Given the description of an element on the screen output the (x, y) to click on. 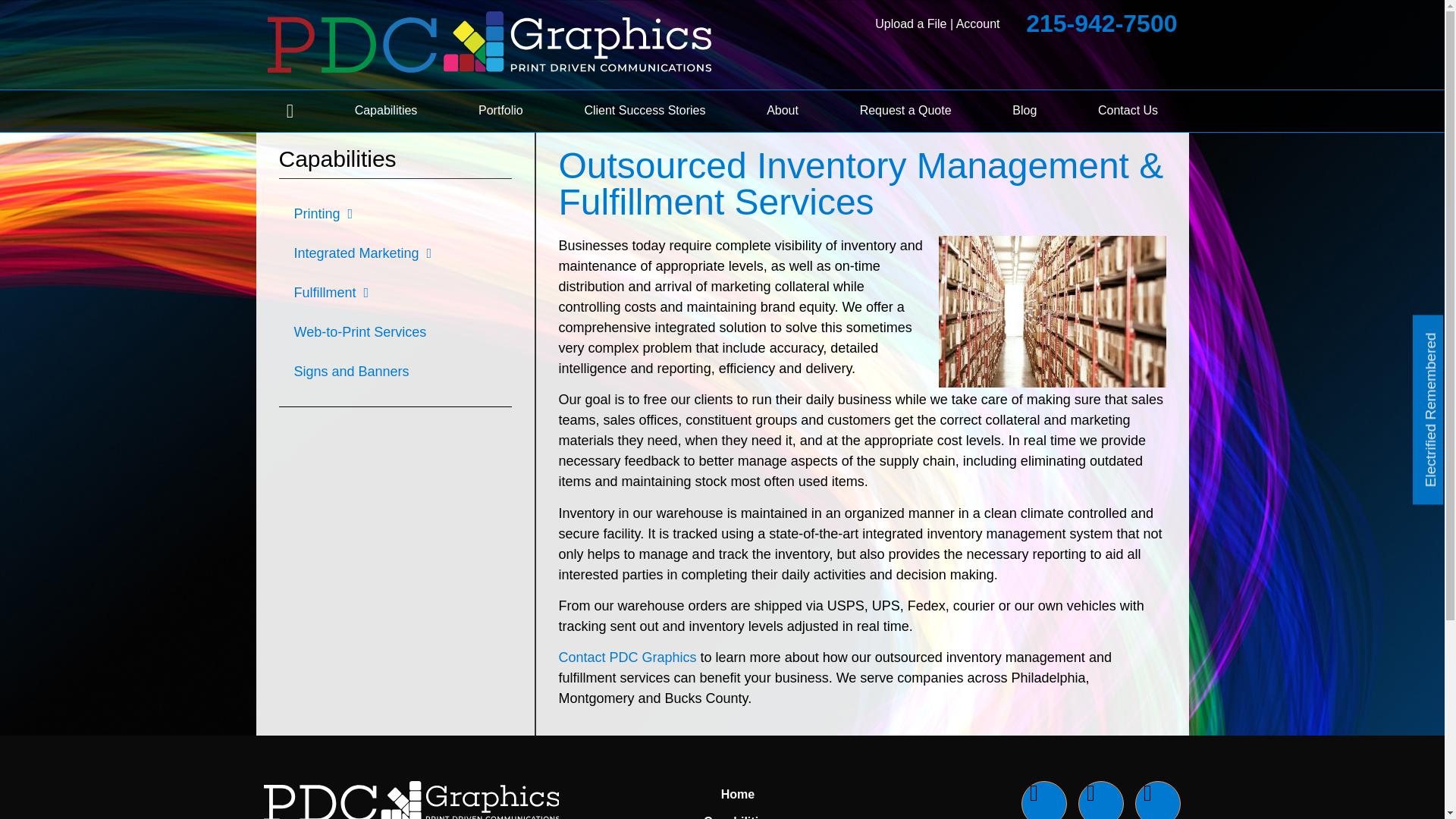
Request a Quote (904, 110)
Upload a File (910, 23)
About (782, 110)
Capabilities (384, 110)
Account (978, 23)
Contact Us (1128, 110)
Blog (1024, 110)
Client Success Stories (644, 110)
Portfolio (500, 110)
